Given the description of an element on the screen output the (x, y) to click on. 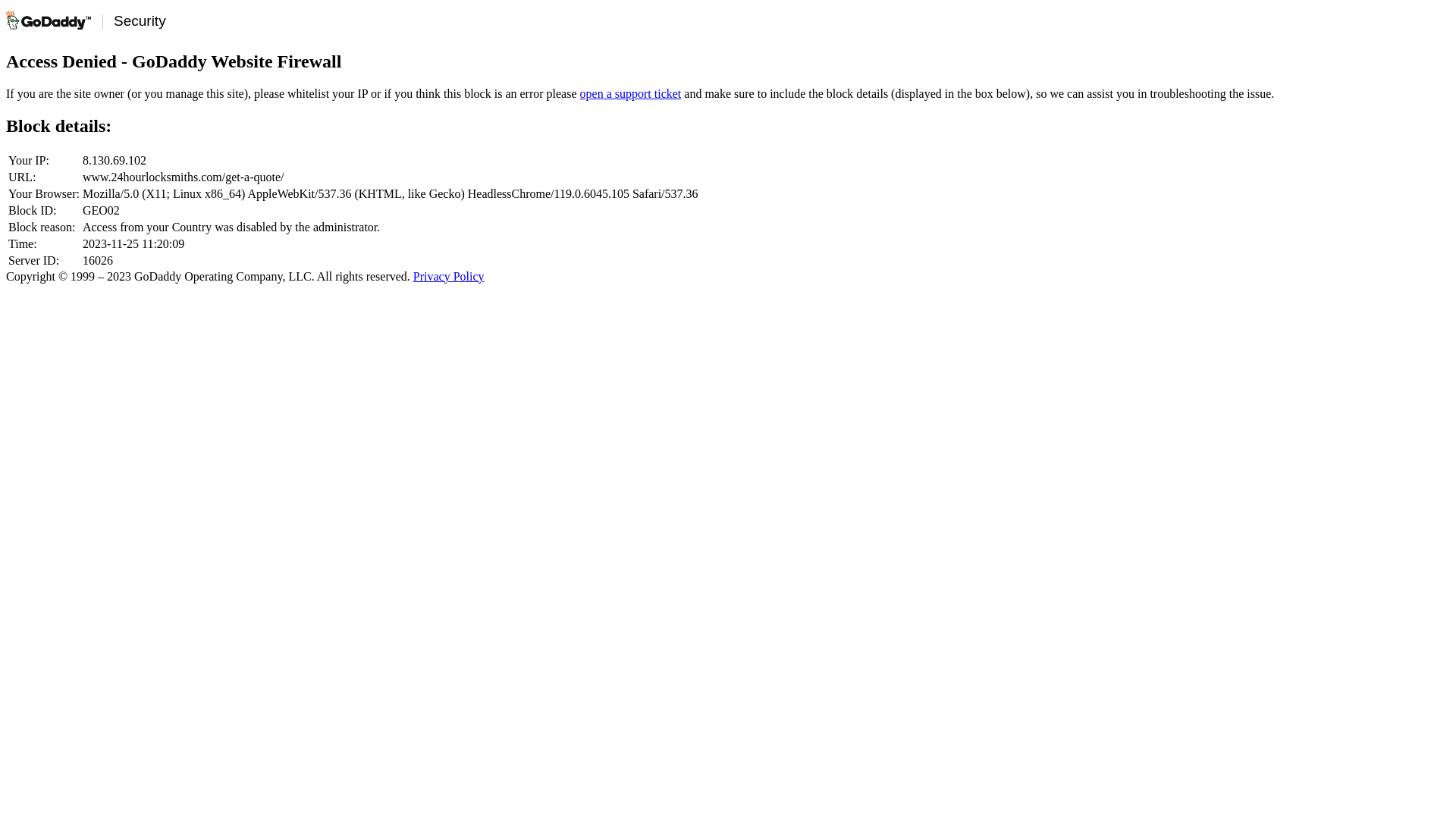
Privacy Policy Element type: text (448, 275)
open a support ticket Element type: text (630, 93)
